Given the description of an element on the screen output the (x, y) to click on. 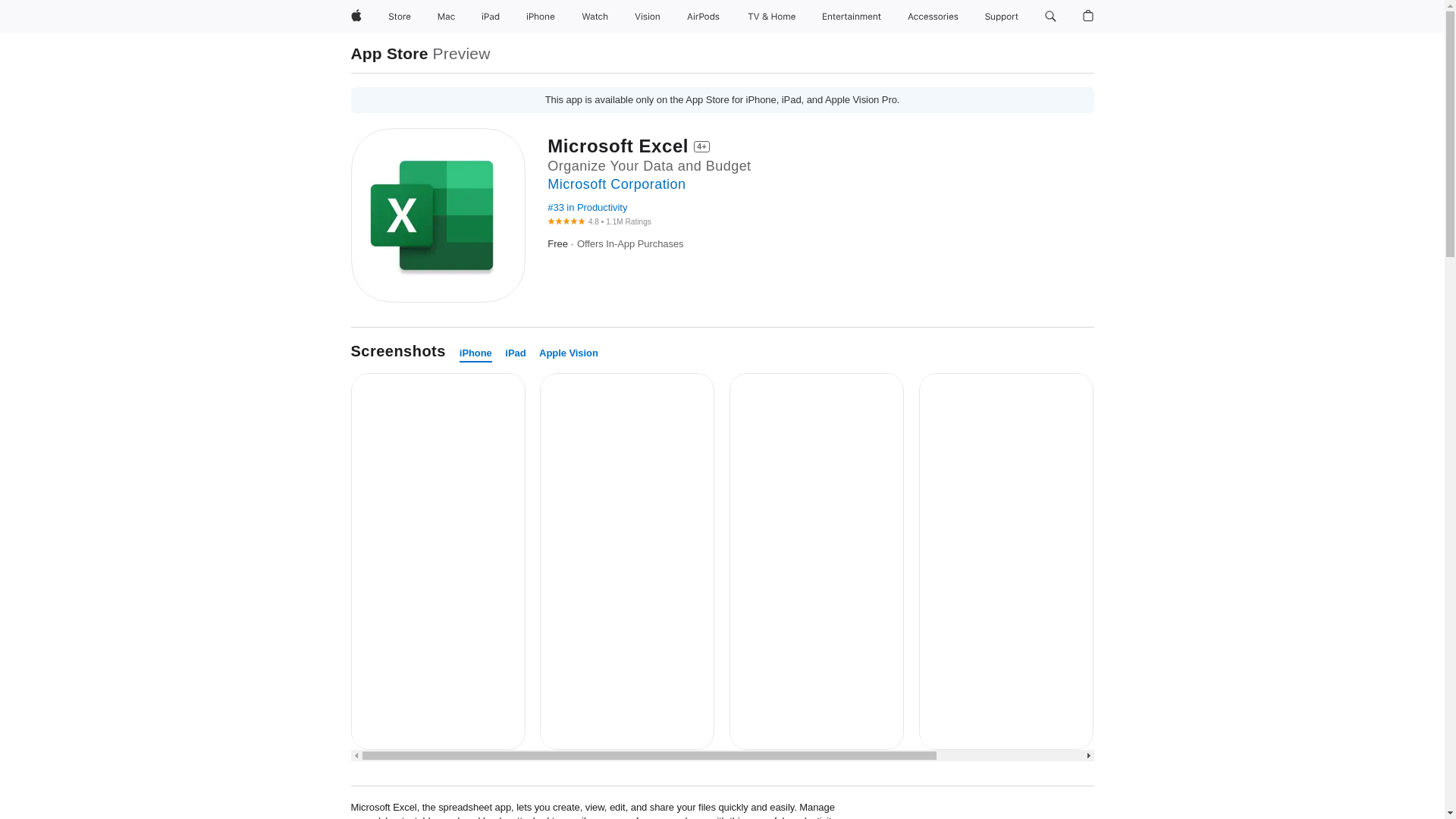
iPad (515, 353)
Entertainment (851, 16)
iPhone (476, 353)
Vision (647, 16)
Microsoft Corporation (616, 183)
App Store (389, 53)
Support (1001, 16)
Store (398, 16)
Watch (594, 16)
Accessories (932, 16)
iPhone (539, 16)
AirPods (703, 16)
Apple Vision (568, 353)
iPad (490, 16)
